Given the description of an element on the screen output the (x, y) to click on. 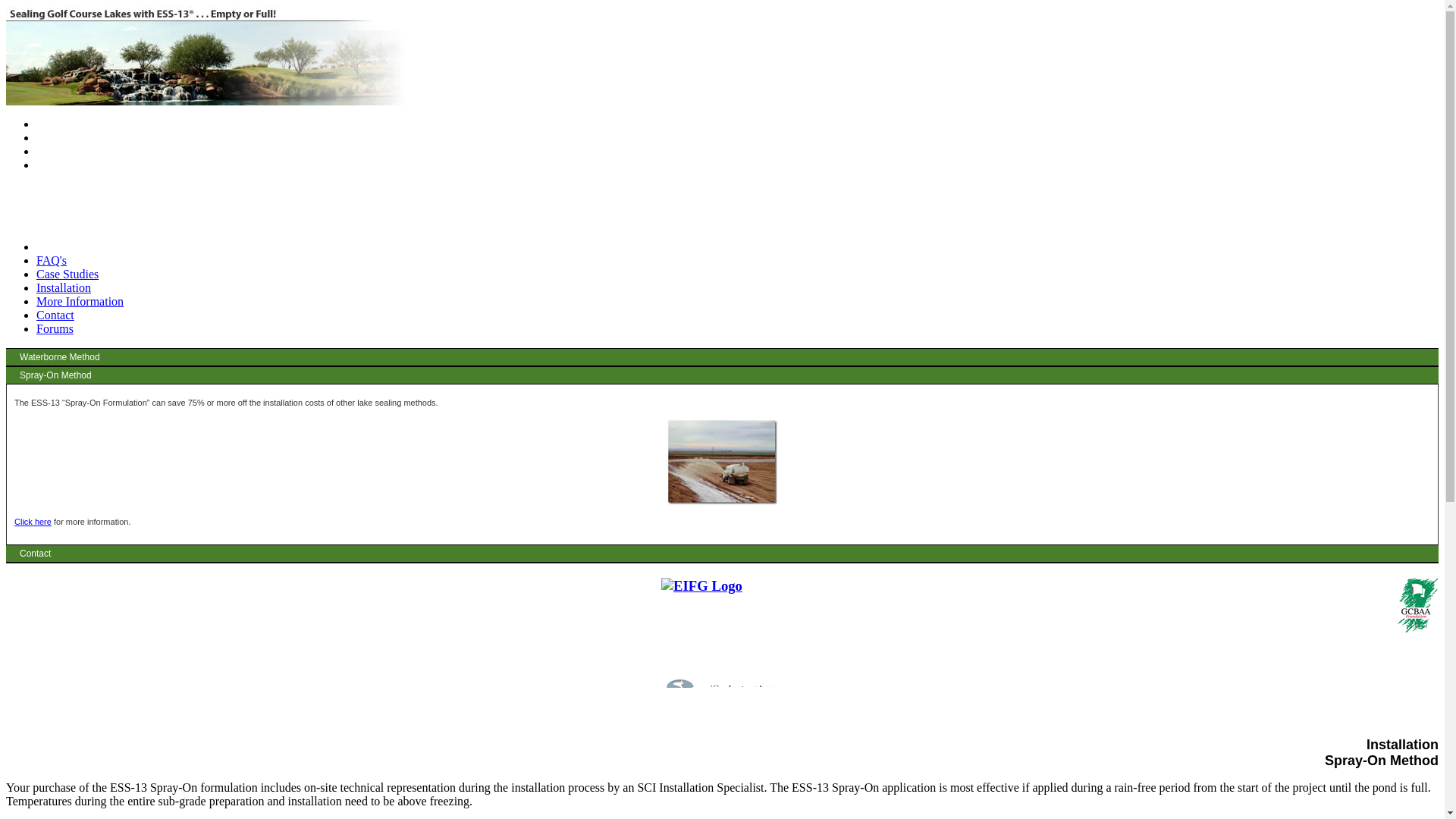
Contact (55, 314)
Click here (32, 521)
FAQ's (51, 259)
Forums (55, 328)
Case Studies (67, 273)
Home (50, 246)
More Information (79, 300)
Installation (63, 287)
